Given the description of an element on the screen output the (x, y) to click on. 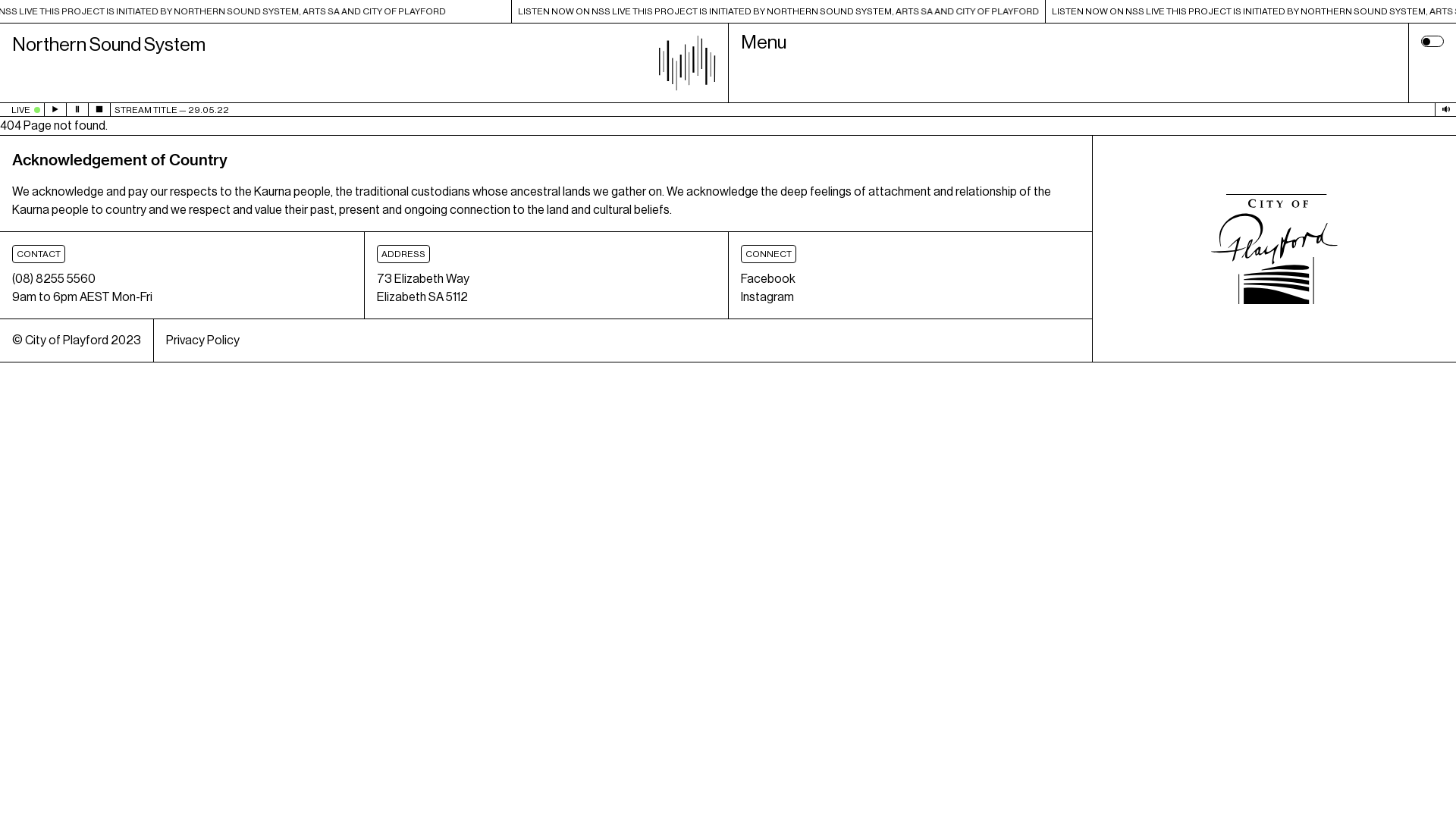
Northern Sound System Element type: text (364, 63)
Menu Element type: text (1068, 63)
Privacy Policy Element type: text (202, 340)
Facebook Element type: text (767, 279)
Instagram Element type: text (766, 297)
